Given the description of an element on the screen output the (x, y) to click on. 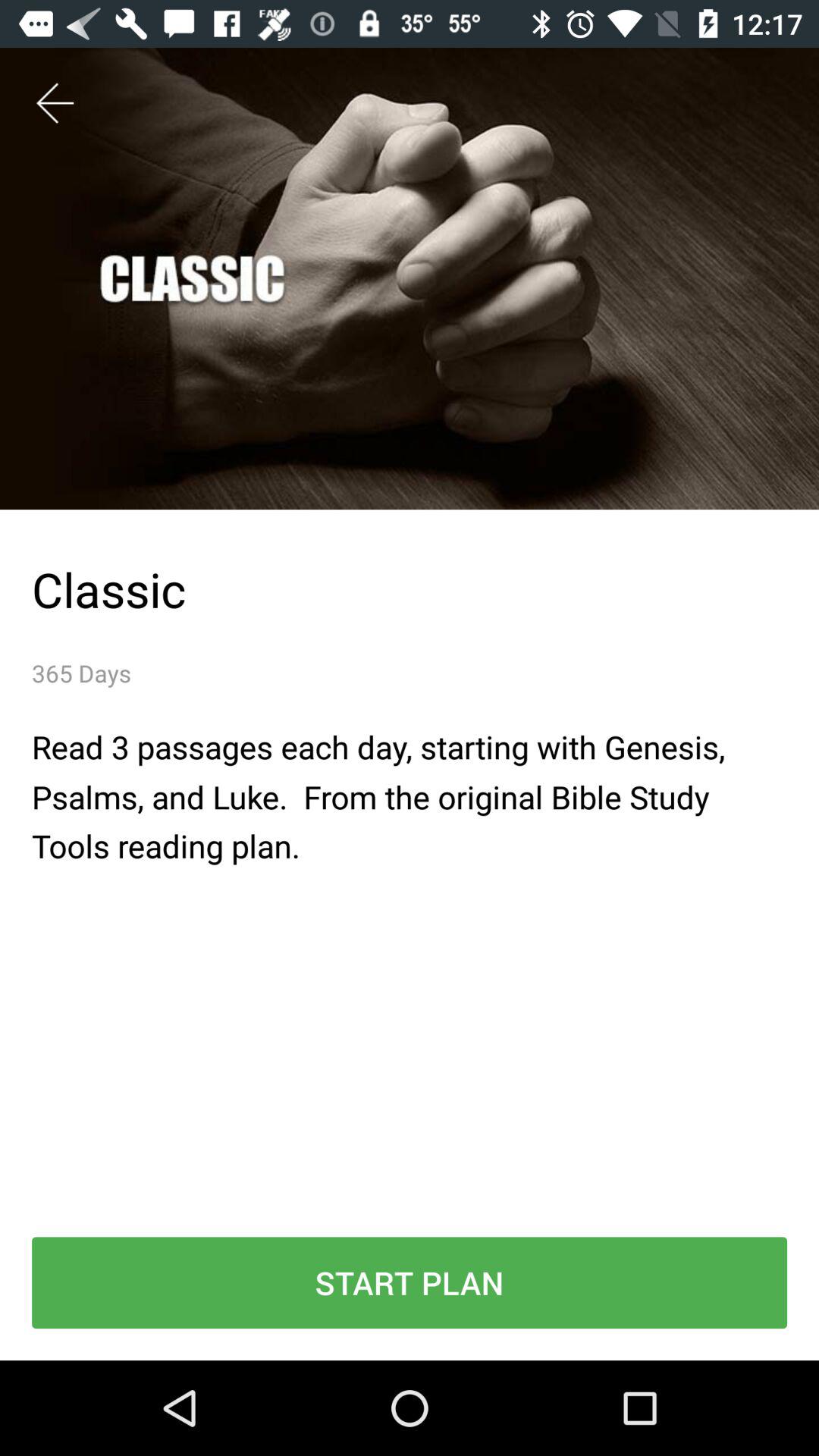
choose icon above classic (55, 103)
